Given the description of an element on the screen output the (x, y) to click on. 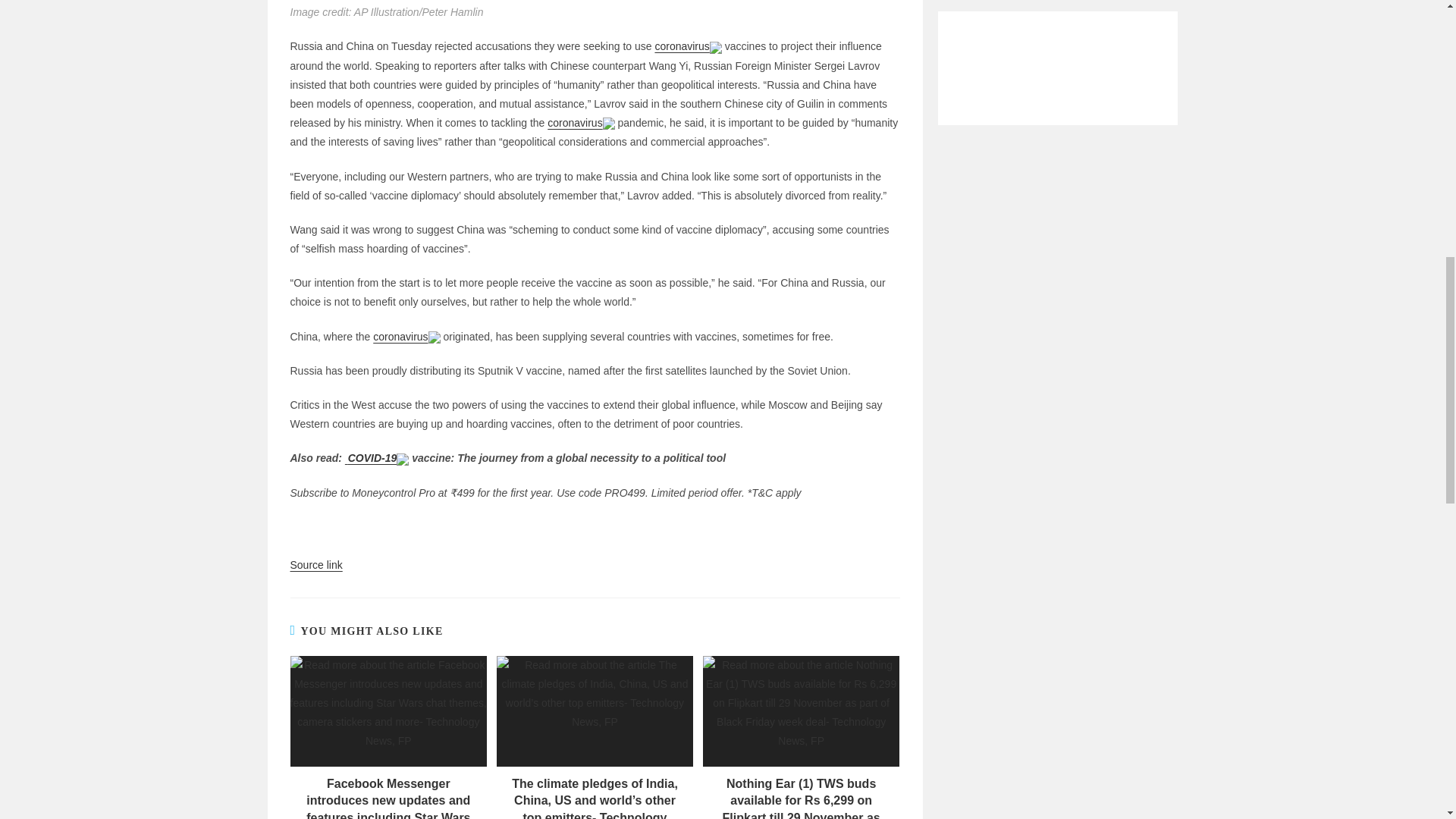
COVID-19 (372, 458)
coronavirus (681, 46)
coronavirus (574, 122)
coronavirus (400, 336)
Source link (315, 564)
